Given the description of an element on the screen output the (x, y) to click on. 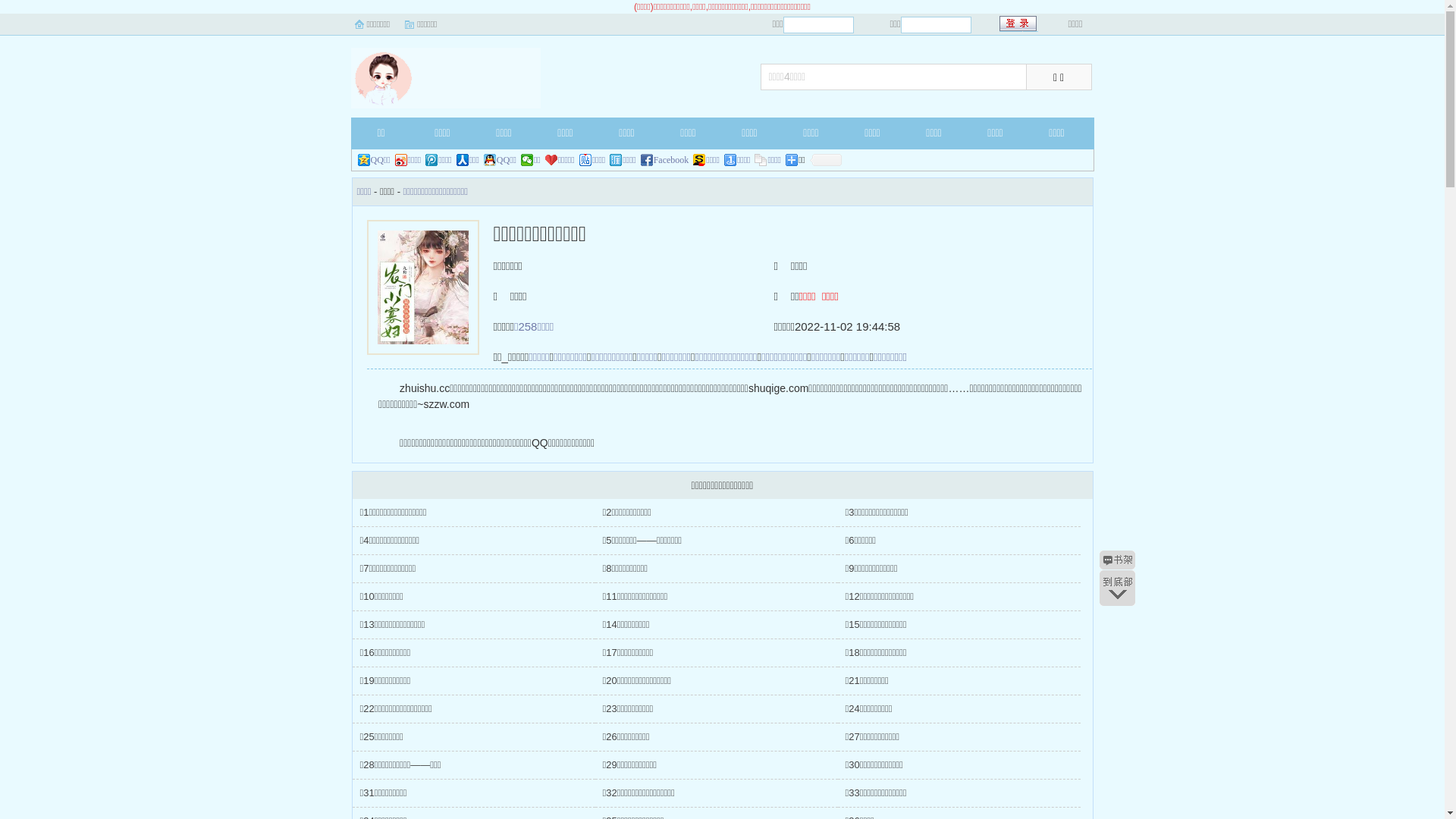
Facebook Element type: text (664, 159)
